Given the description of an element on the screen output the (x, y) to click on. 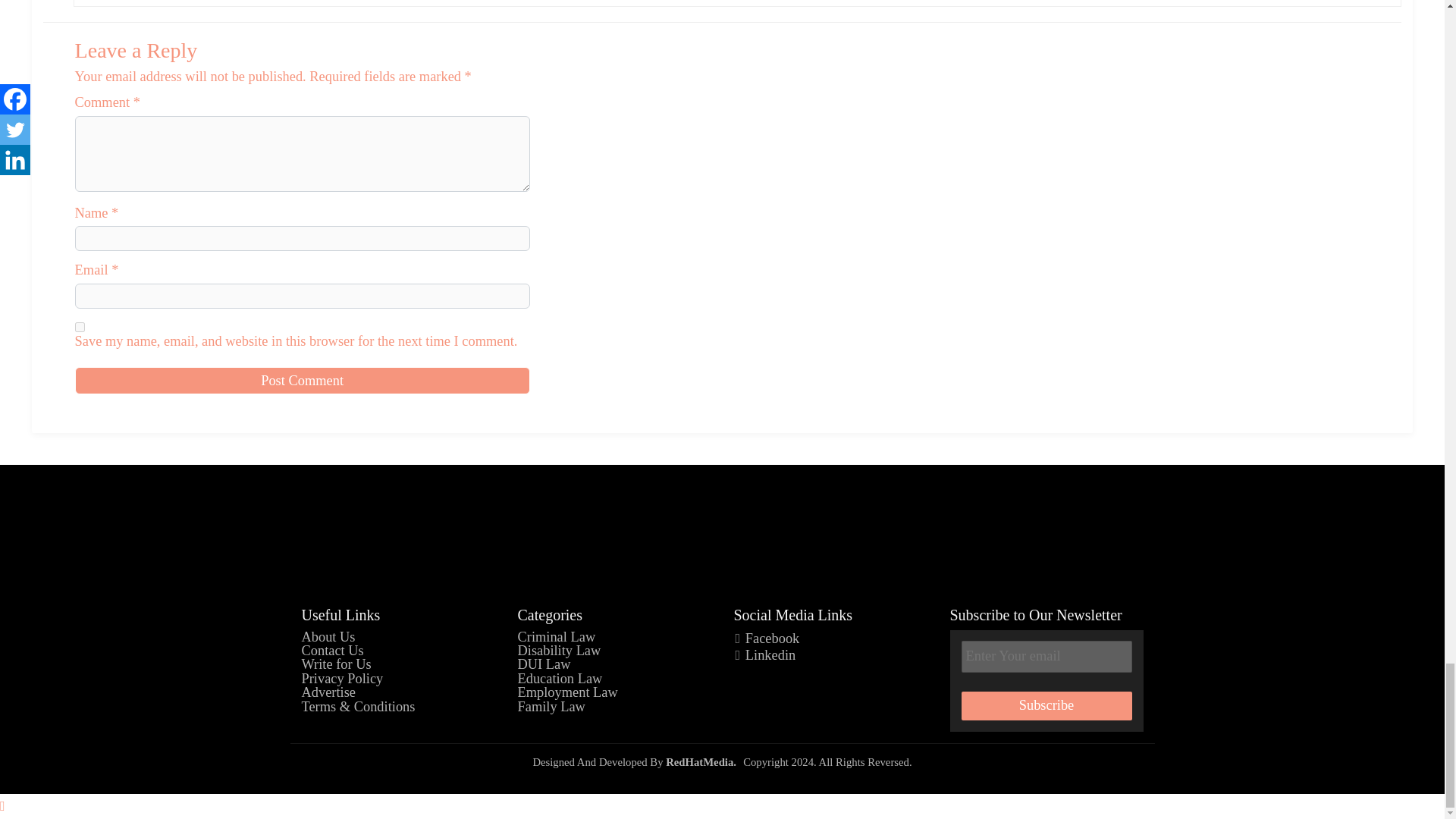
yes (79, 327)
Write for Us (336, 663)
Post Comment (302, 379)
Subscribe (1046, 705)
Post Comment (302, 379)
Contact Us (332, 650)
About Us (328, 636)
